Given the description of an element on the screen output the (x, y) to click on. 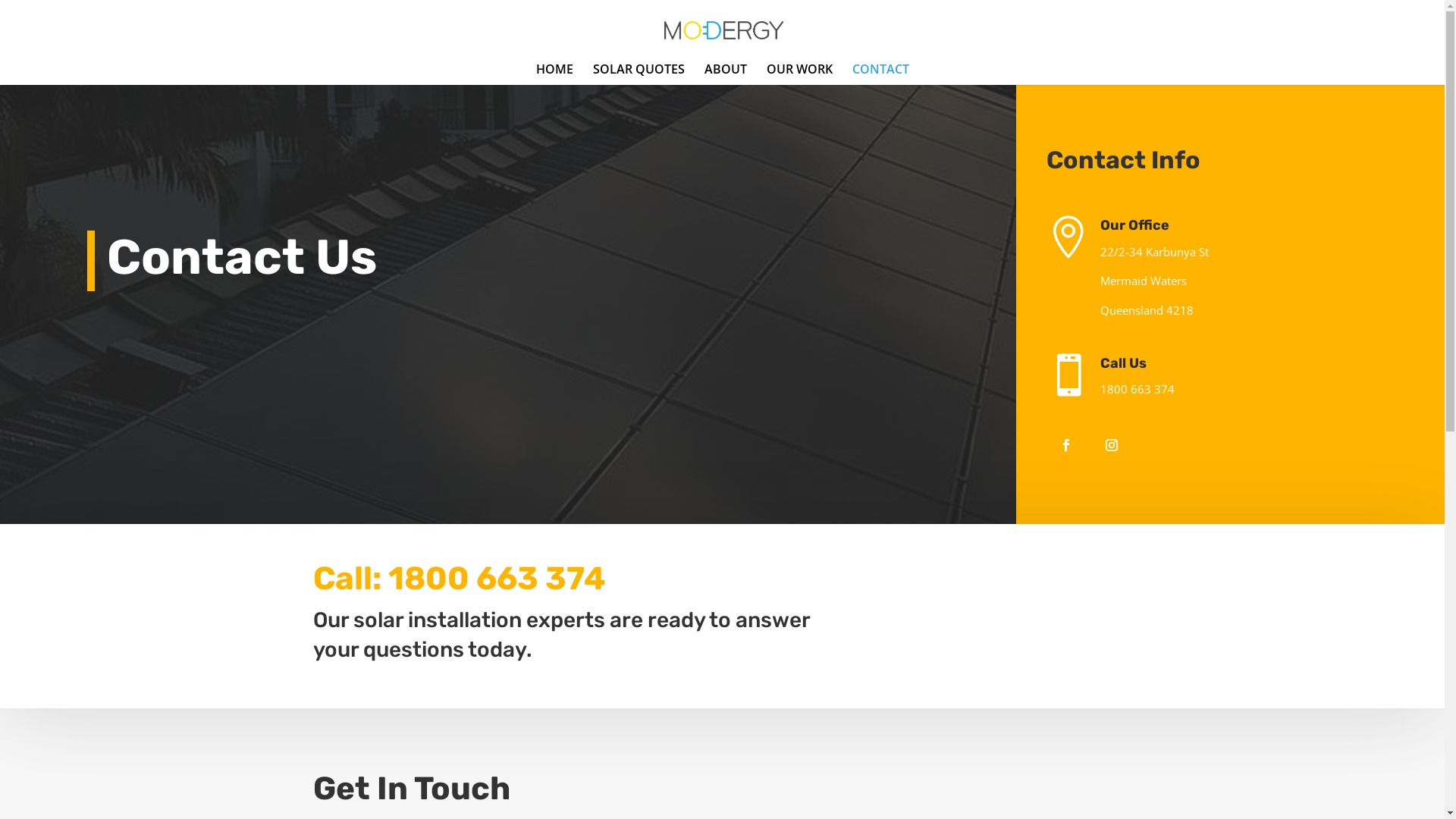
SOLAR QUOTES Element type: text (638, 73)
Follow on Facebook Element type: hover (1065, 445)
ABOUT Element type: text (724, 73)
OUR WORK Element type: text (798, 73)
Follow on Instagram Element type: hover (1111, 445)
HOME Element type: text (553, 73)
CONTACT Element type: text (880, 73)
